Given the description of an element on the screen output the (x, y) to click on. 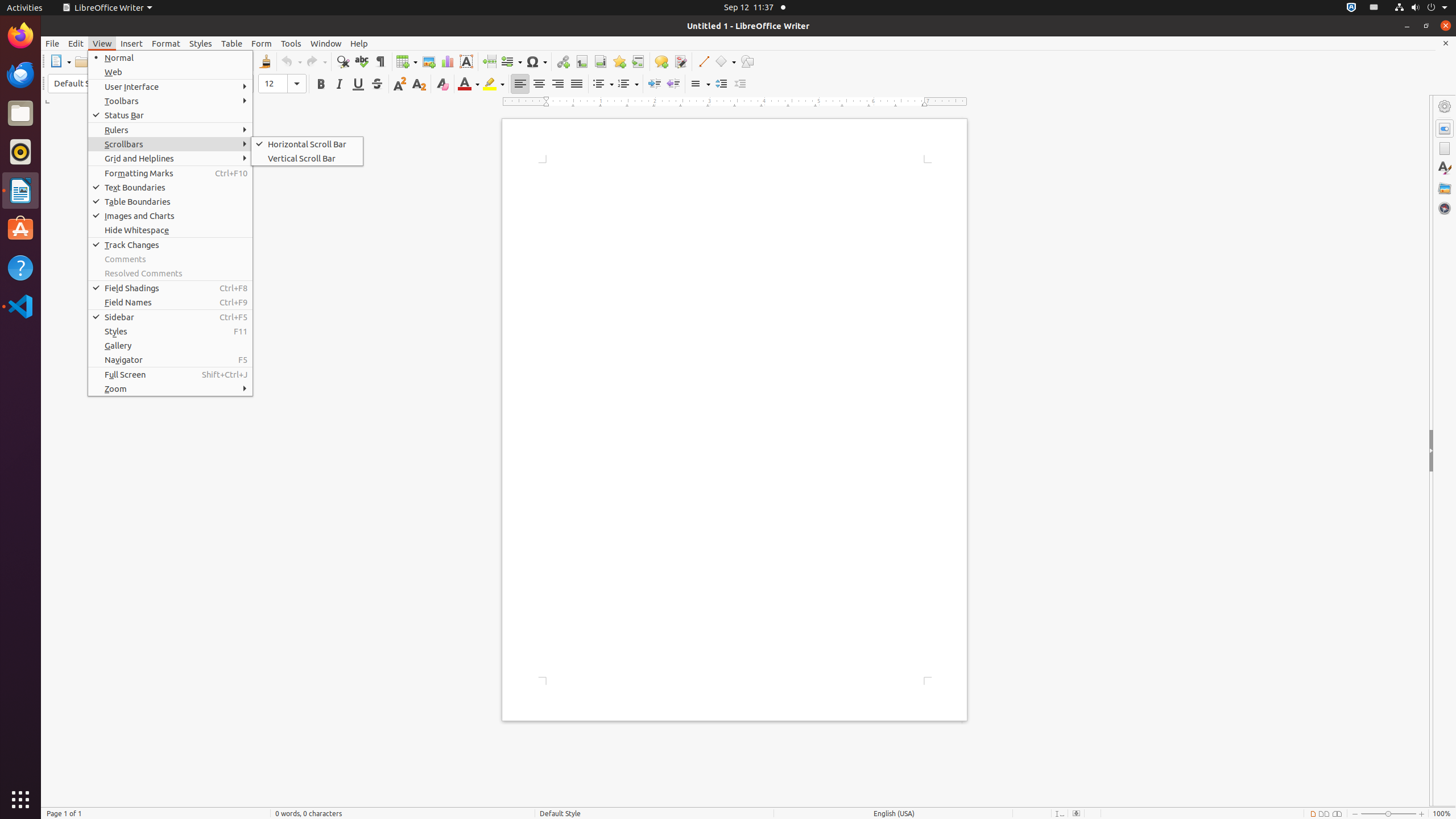
Rhythmbox Element type: push-button (20, 151)
Bold Element type: toggle-button (320, 83)
Navigator Element type: radio-button (1444, 208)
Table Element type: menu (231, 43)
Numbering Element type: push-button (627, 83)
